Given the description of an element on the screen output the (x, y) to click on. 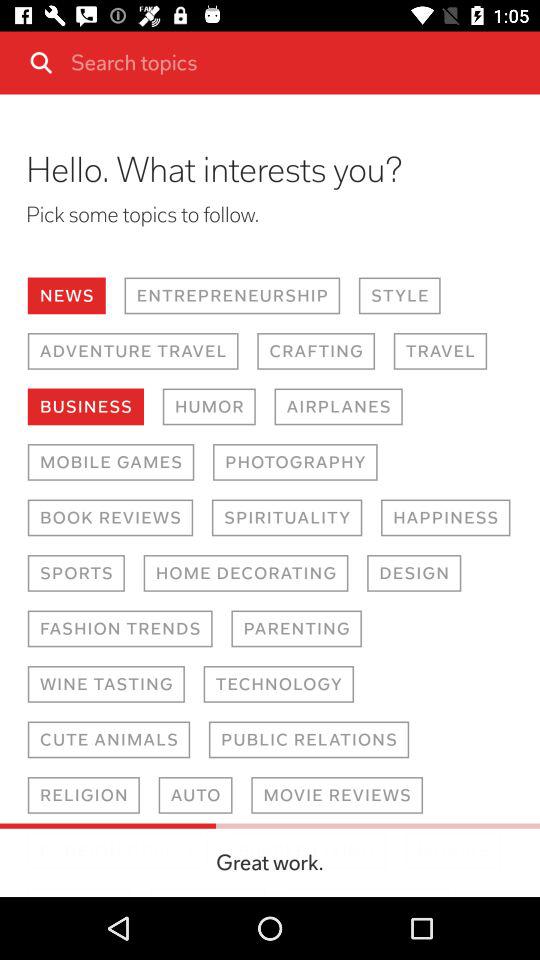
click on button below the mobile games (110, 517)
click the button religion on the web page (195, 795)
click the business button on the web page (86, 406)
click on the button beside public relations (109, 739)
click on the button next to entrepreneurship button (400, 295)
move to the text great work on the web page (306, 850)
humor (209, 406)
